Given the description of an element on the screen output the (x, y) to click on. 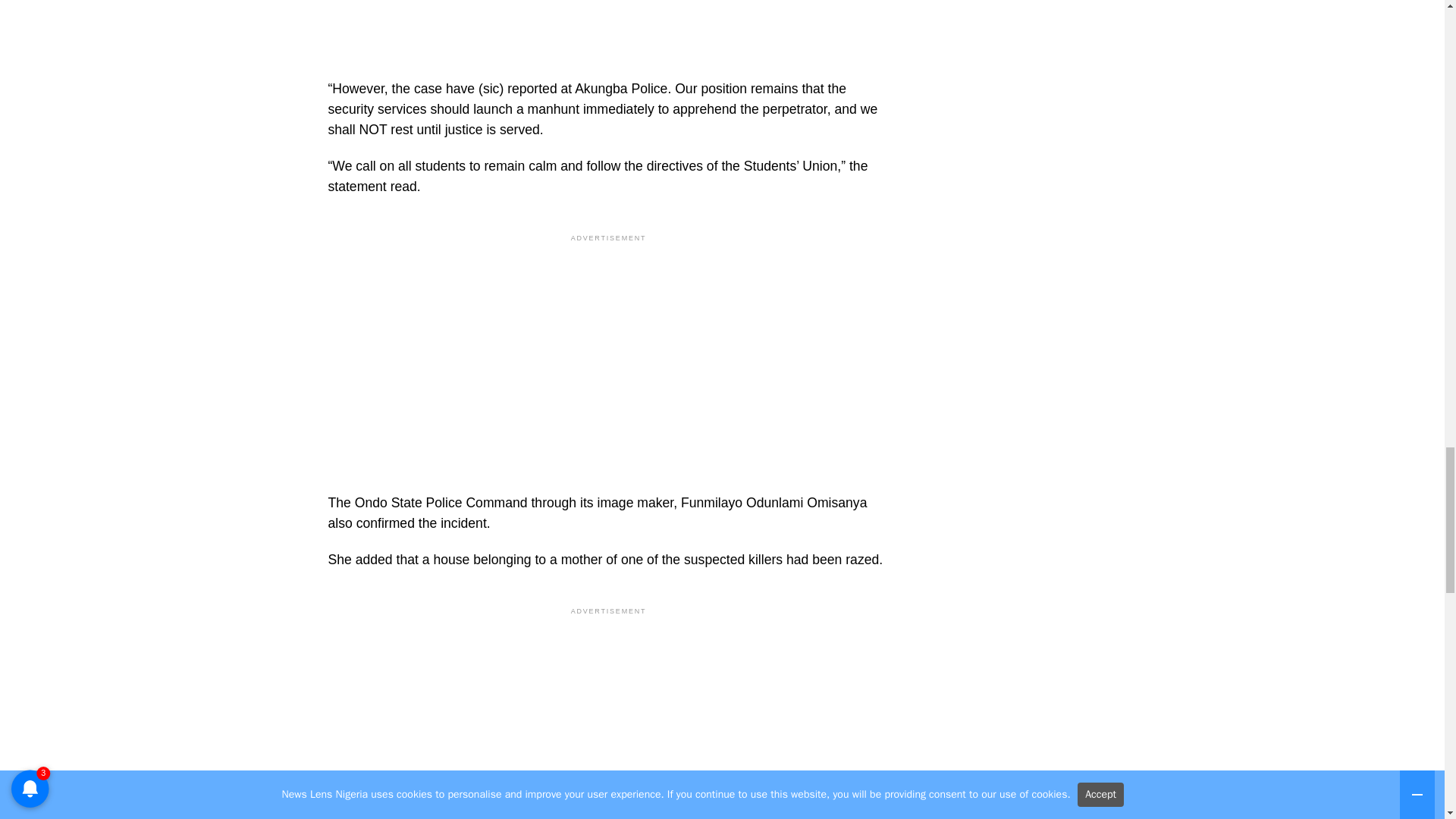
Advertisement (607, 718)
Advertisement (607, 350)
Advertisement (607, 21)
